Given the description of an element on the screen output the (x, y) to click on. 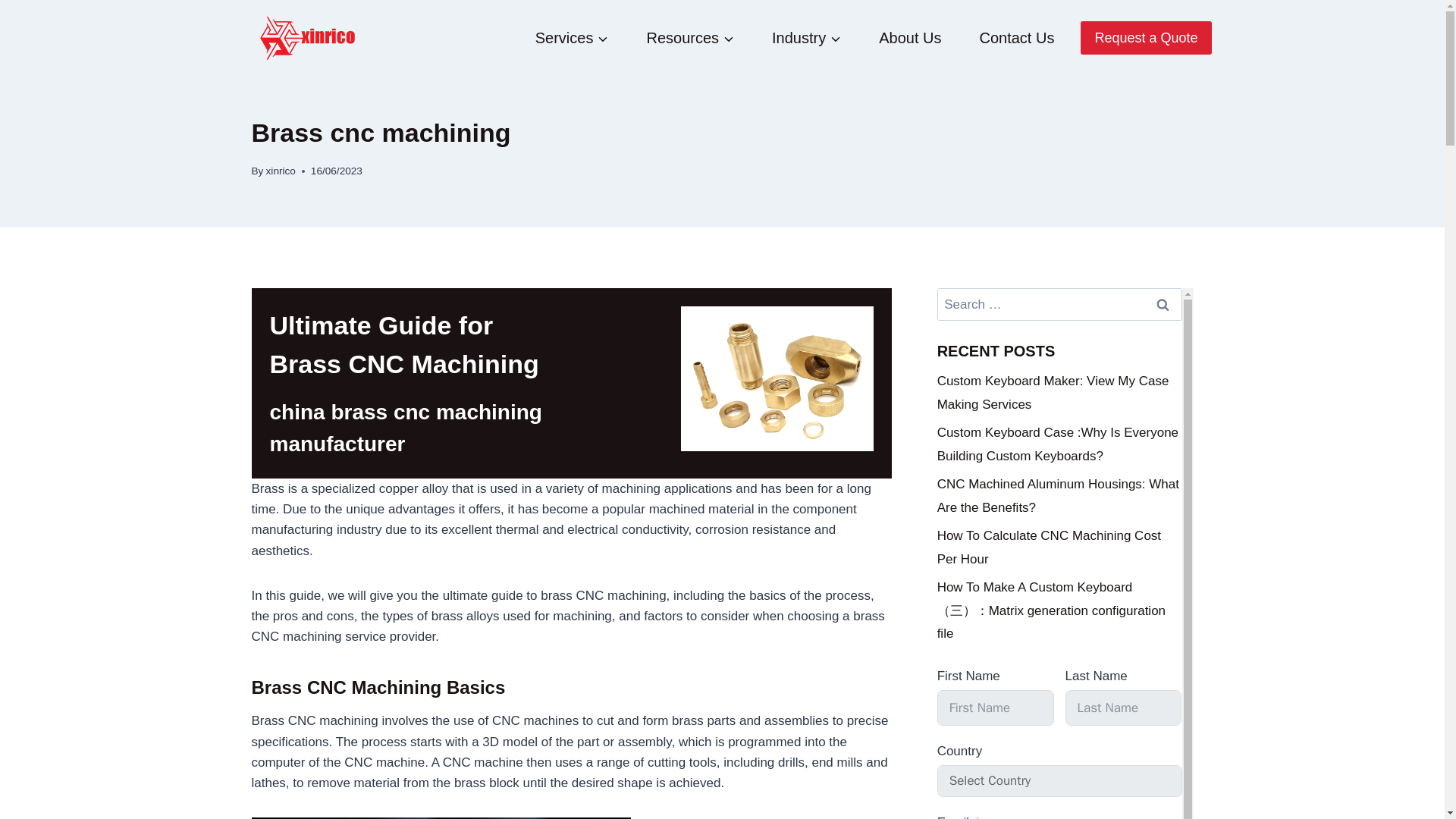
xinrico (280, 170)
About Us (909, 37)
Services (571, 37)
Search (1161, 304)
Resources (689, 37)
Contact Us (1016, 37)
Search (1161, 304)
Request a Quote (1145, 37)
Industry (806, 37)
